Given the description of an element on the screen output the (x, y) to click on. 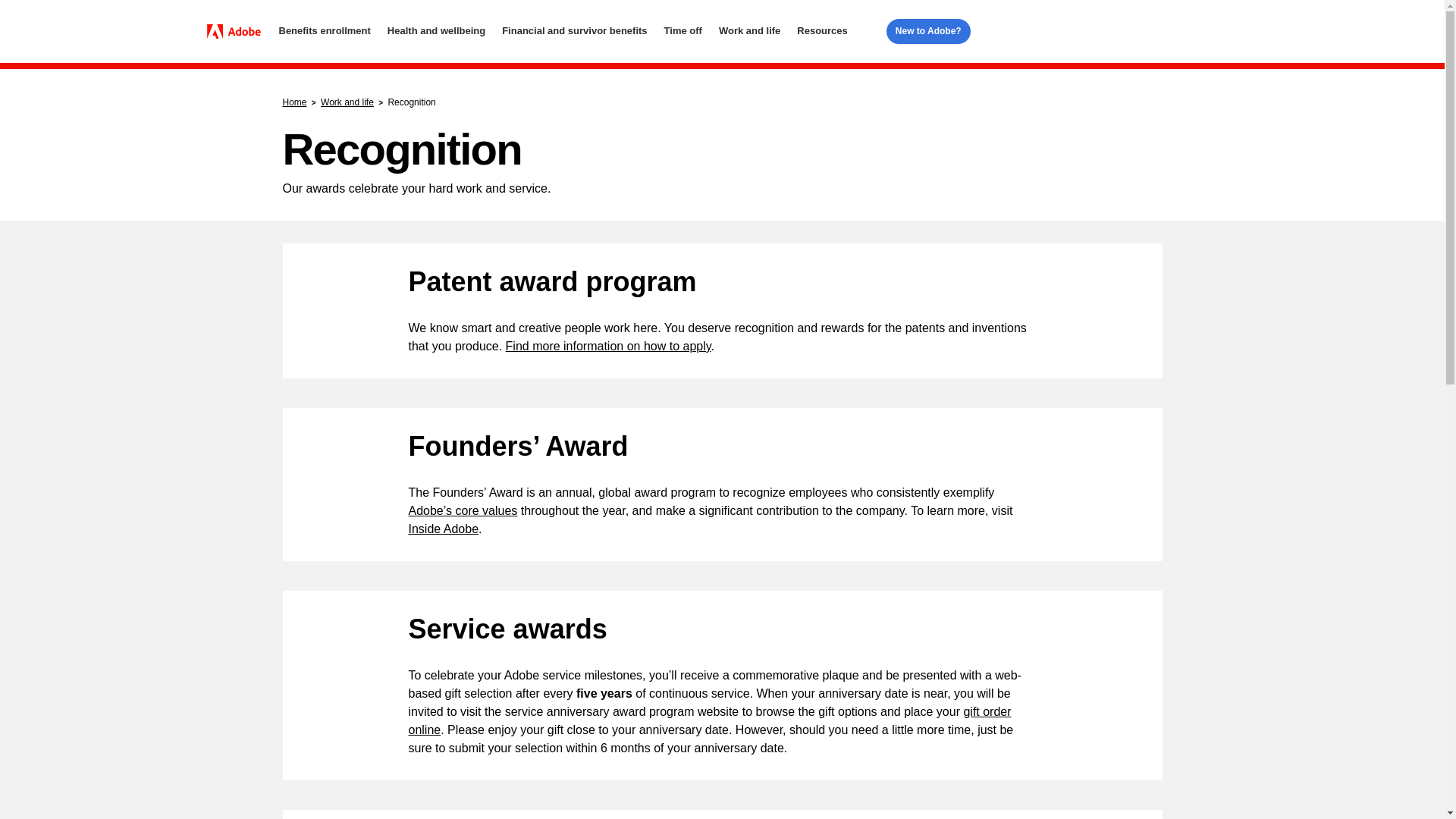
Home (237, 31)
Work and life (749, 31)
Benefits enrollment (325, 31)
Health and wellbeing (435, 31)
Time off (682, 31)
Financial and survivor benefits (574, 31)
